Given the description of an element on the screen output the (x, y) to click on. 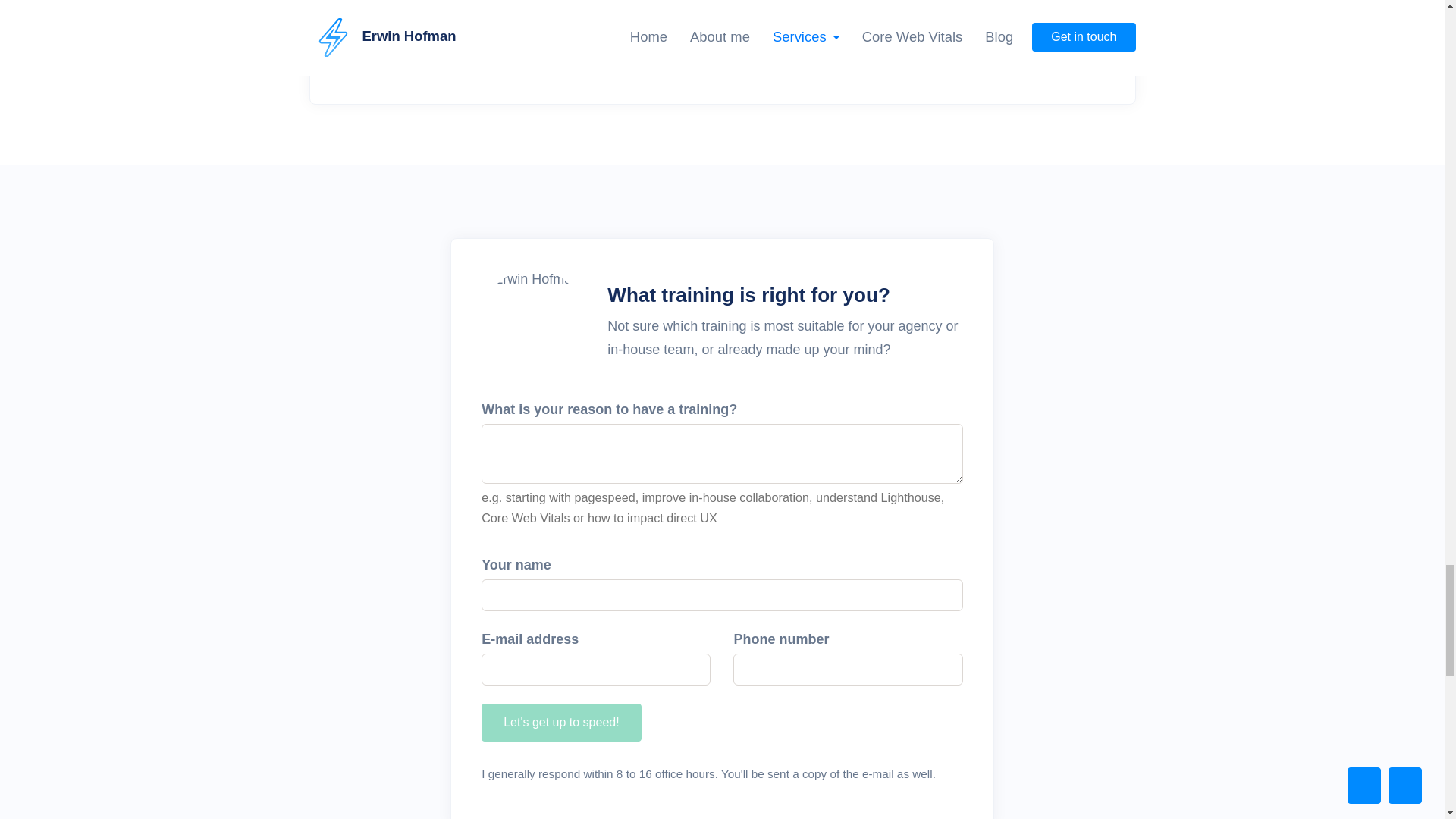
Let's get up to speed! (561, 722)
